Given the description of an element on the screen output the (x, y) to click on. 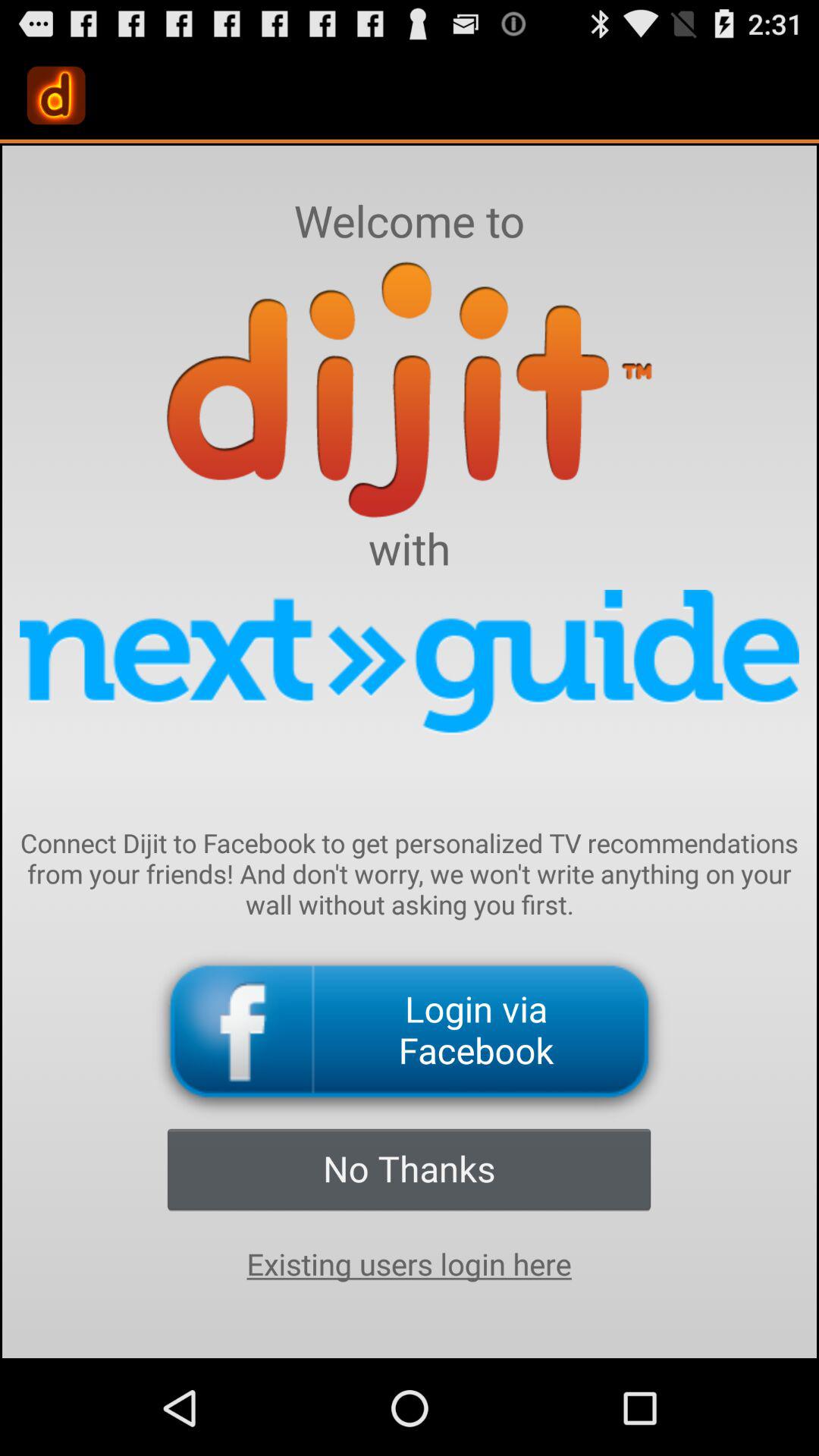
turn off icon below login via facebook icon (409, 1168)
